Given the description of an element on the screen output the (x, y) to click on. 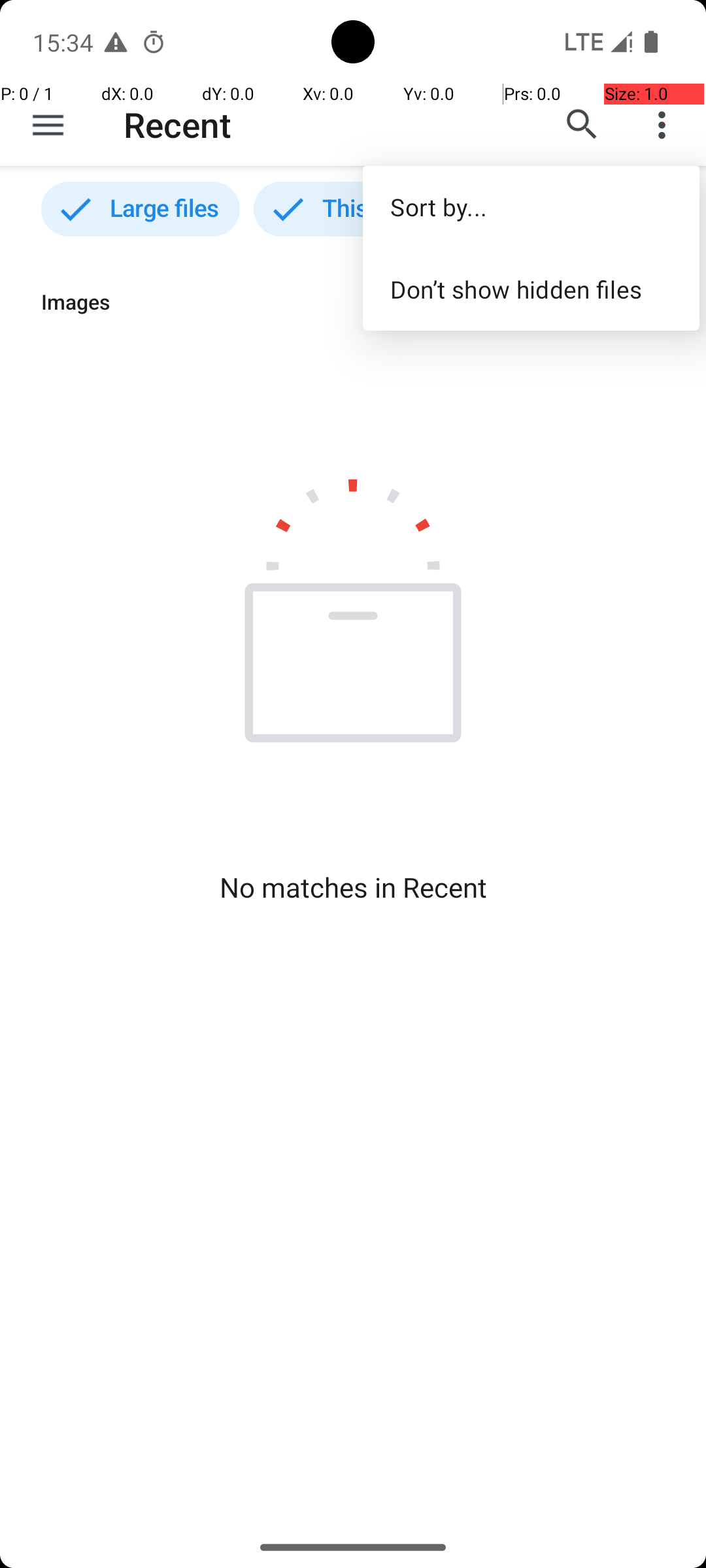
Sort by... Element type: android.widget.TextView (531, 206)
Don’t show hidden files Element type: android.widget.TextView (531, 288)
